Given the description of an element on the screen output the (x, y) to click on. 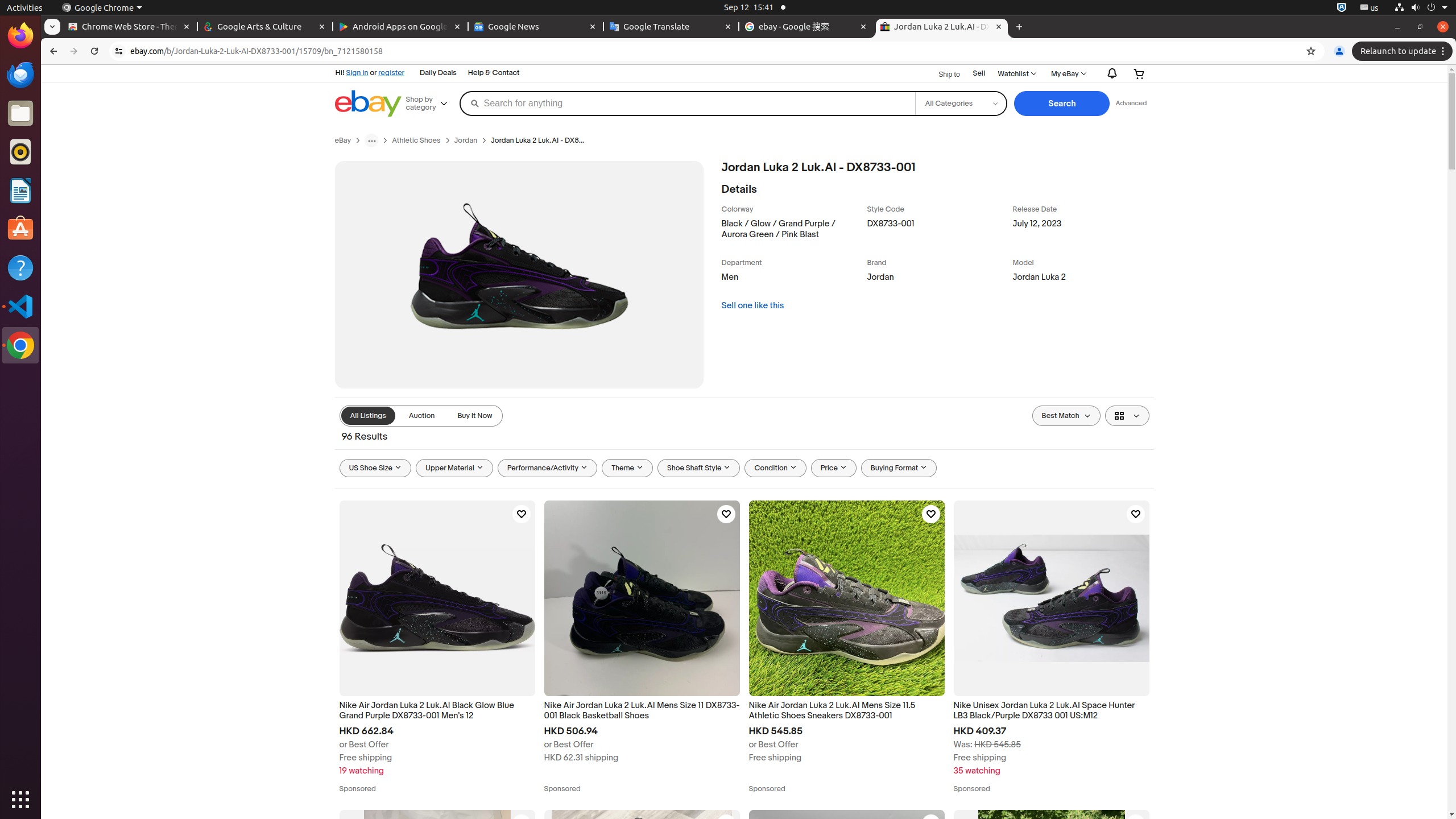
Sort Best Match Element type: push-button (1065, 415)
Shoe Shaft Style Element type: push-button (698, 467)
Jordan Luka 2 Element type: table-cell (1082, 279)
Search for anything Element type: combo-box (686, 103)
Advanced Search Element type: link (1130, 103)
